Given the description of an element on the screen output the (x, y) to click on. 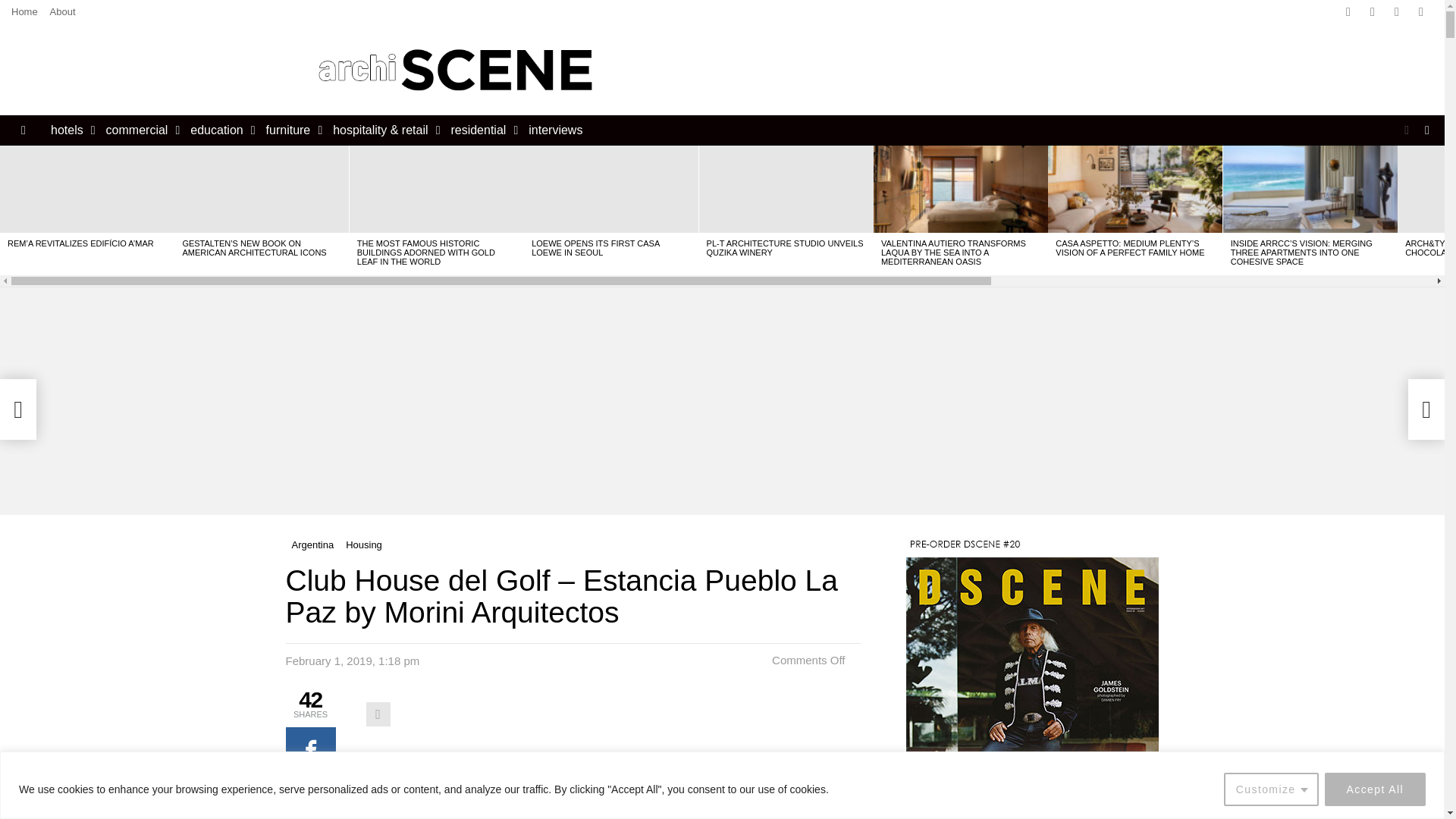
hotels (69, 129)
Home (24, 12)
Facebook (1347, 11)
Twitter (1371, 11)
Menu (22, 130)
Customize (1271, 788)
commercial (139, 129)
education (218, 129)
pinterest (1420, 11)
Accept All (1374, 788)
About (62, 12)
instagram (1396, 11)
